Given the description of an element on the screen output the (x, y) to click on. 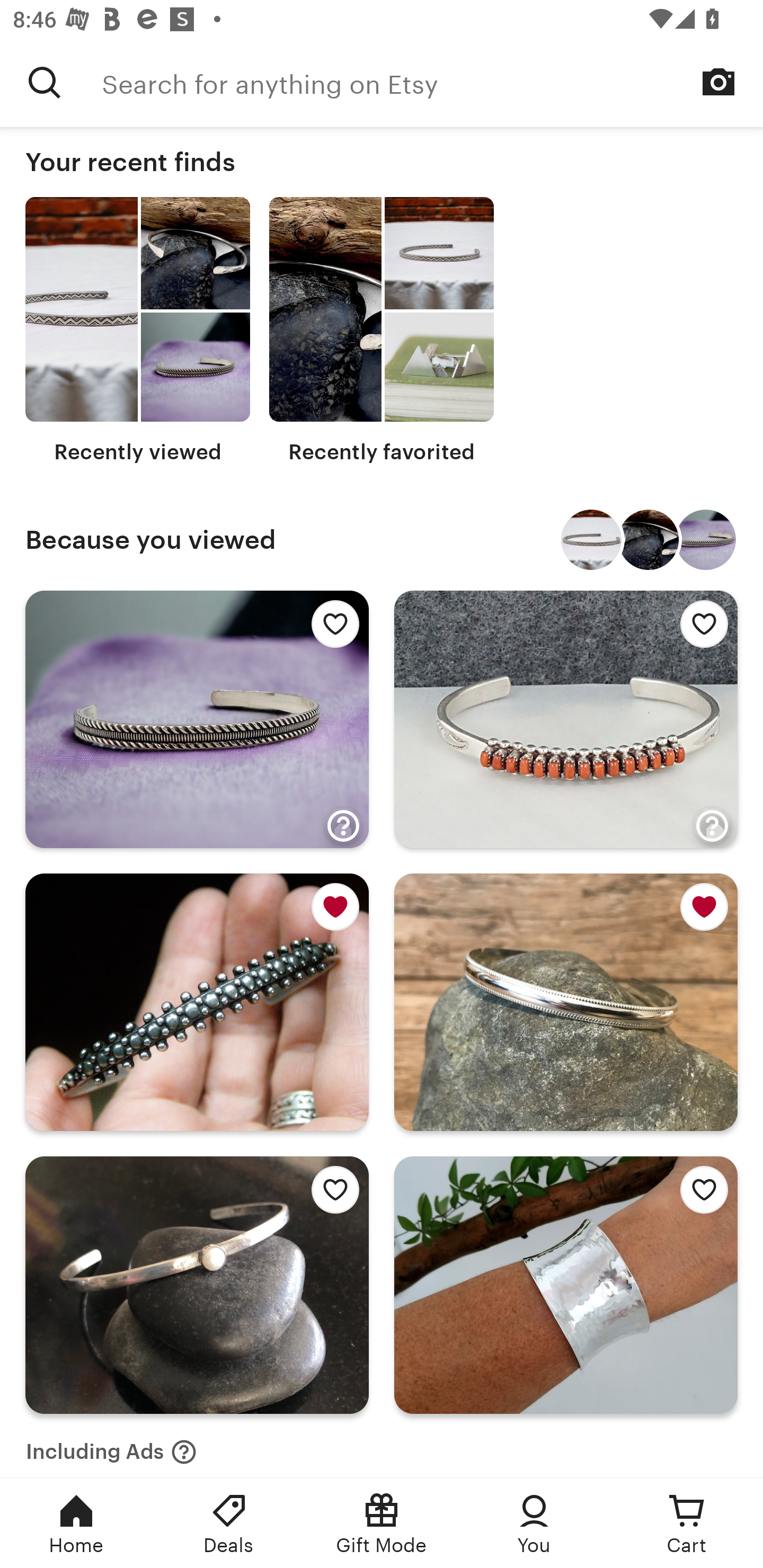
Search for anything on Etsy (44, 82)
Search by image (718, 81)
Search for anything on Etsy (432, 82)
Recently viewed (137, 330)
Recently favorited (381, 330)
Including Ads (111, 1446)
Deals (228, 1523)
Gift Mode (381, 1523)
You (533, 1523)
Cart (686, 1523)
